Given the description of an element on the screen output the (x, y) to click on. 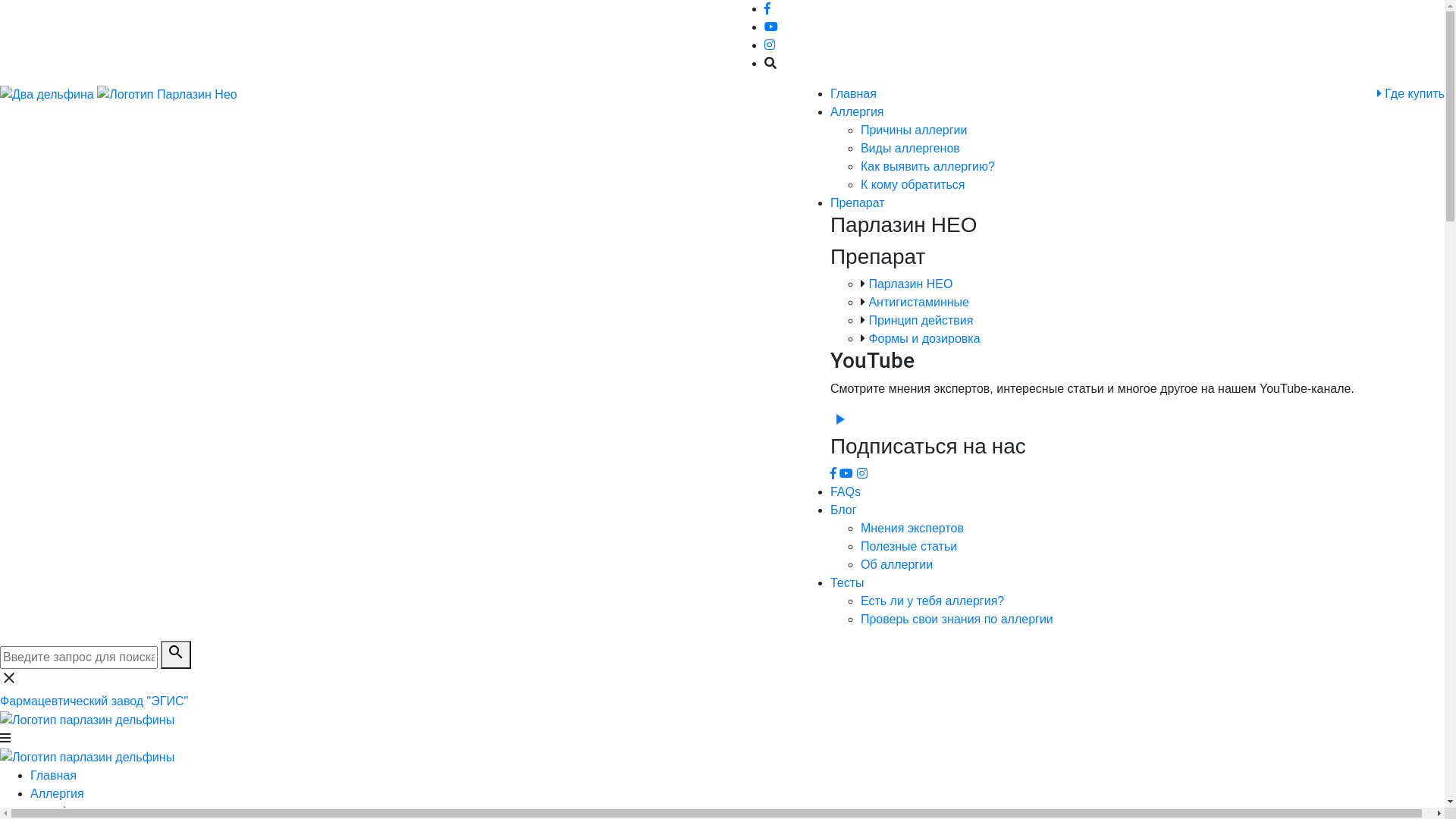
search Element type: text (175, 654)
play_arrow Element type: text (839, 423)
FAQs Element type: text (845, 491)
